Given the description of an element on the screen output the (x, y) to click on. 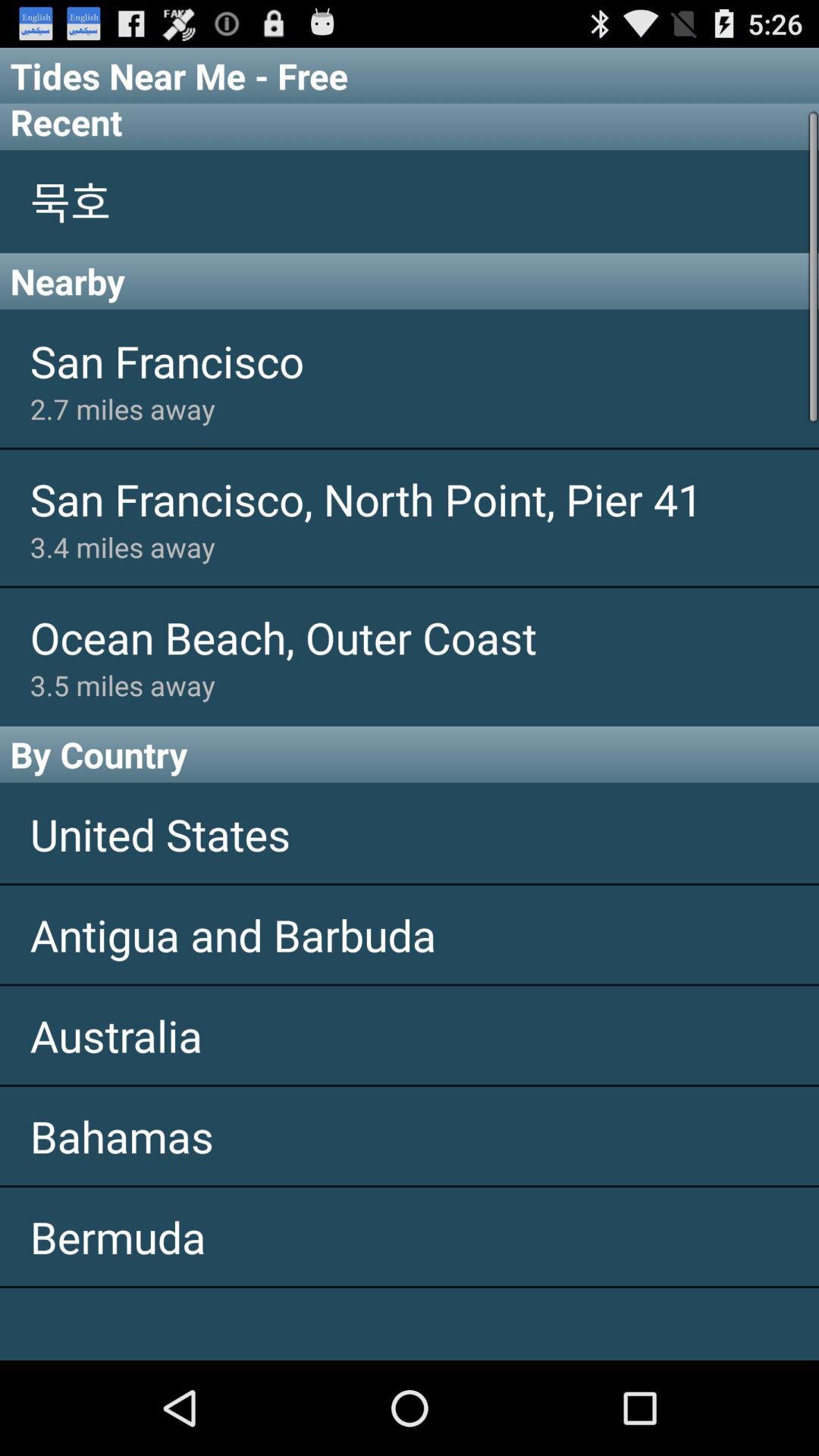
launch the app below san francisco app (424, 408)
